Given the description of an element on the screen output the (x, y) to click on. 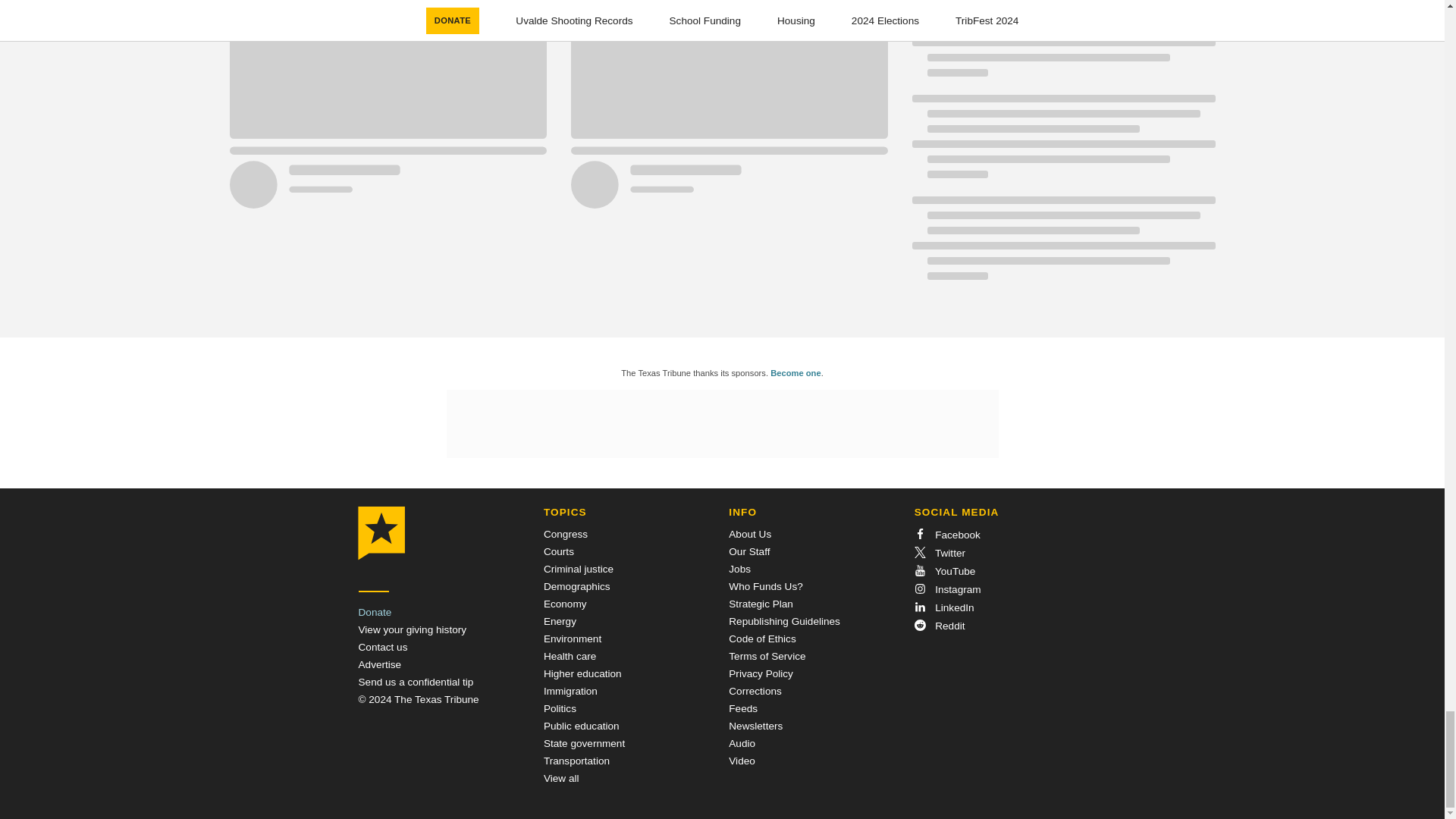
Feeds (743, 708)
Terms of Service (767, 655)
Code of Ethics (761, 638)
View your giving history (411, 629)
Privacy Policy (761, 673)
Republishing Guidelines (784, 621)
Newsletters (756, 726)
Send a Tip (415, 681)
Advertise (379, 664)
Donate (374, 612)
